Given the description of an element on the screen output the (x, y) to click on. 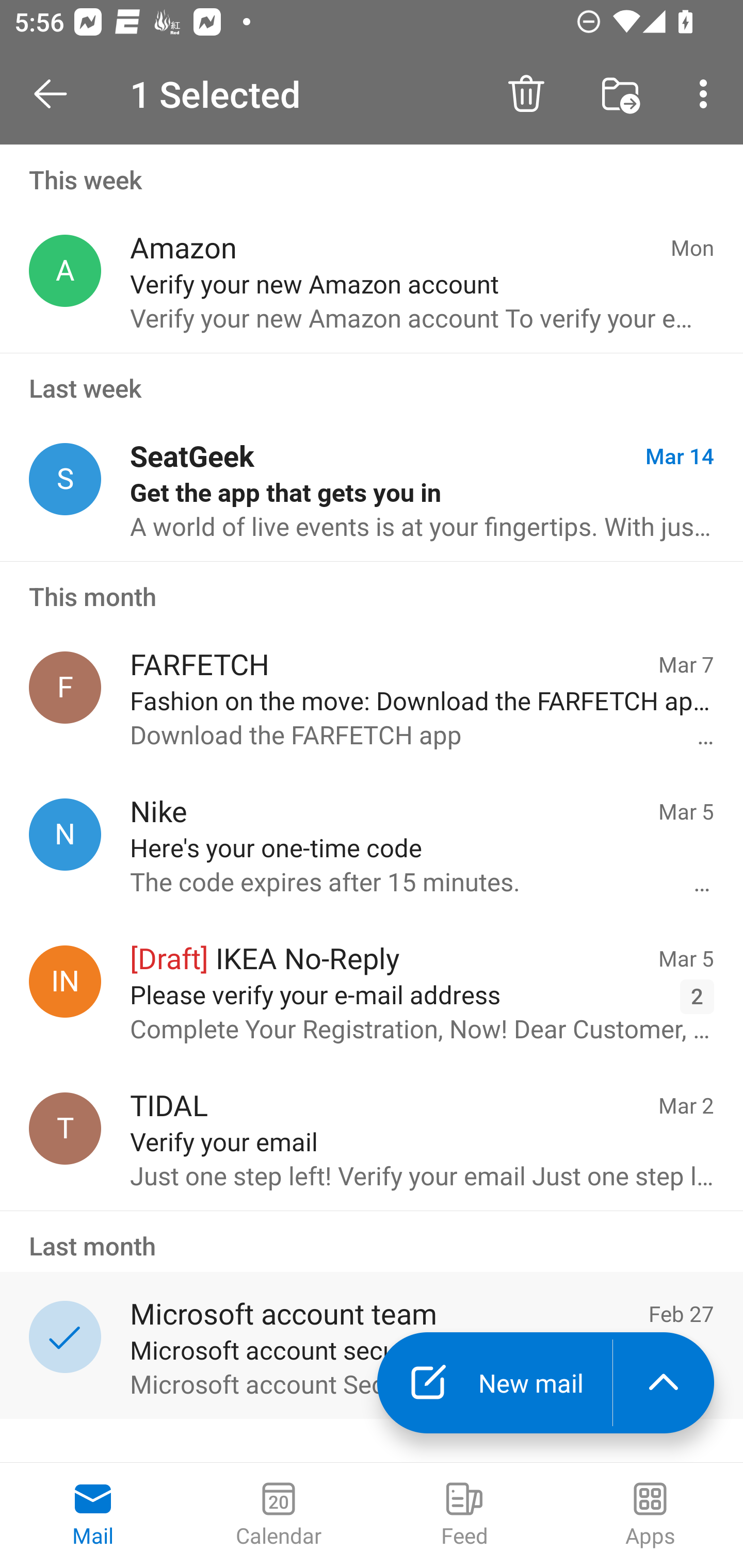
Delete (525, 93)
Move to folder (619, 93)
More options (706, 93)
Open Navigation Drawer (57, 94)
Amazon, account-update@amazon.com (64, 271)
SeatGeek, events@seatgeek.com (64, 479)
FARFETCH, farfetch@email.farfetch.com (64, 687)
Nike, nike@notifications.nike.com (64, 834)
IKEA No-Reply, noreply@ikea.com.hk (64, 981)
TIDAL, account@info.tidal.com (64, 1128)
New mail (494, 1382)
launch the extended action menu (663, 1382)
Calendar (278, 1515)
Feed (464, 1515)
Apps (650, 1515)
